Given the description of an element on the screen output the (x, y) to click on. 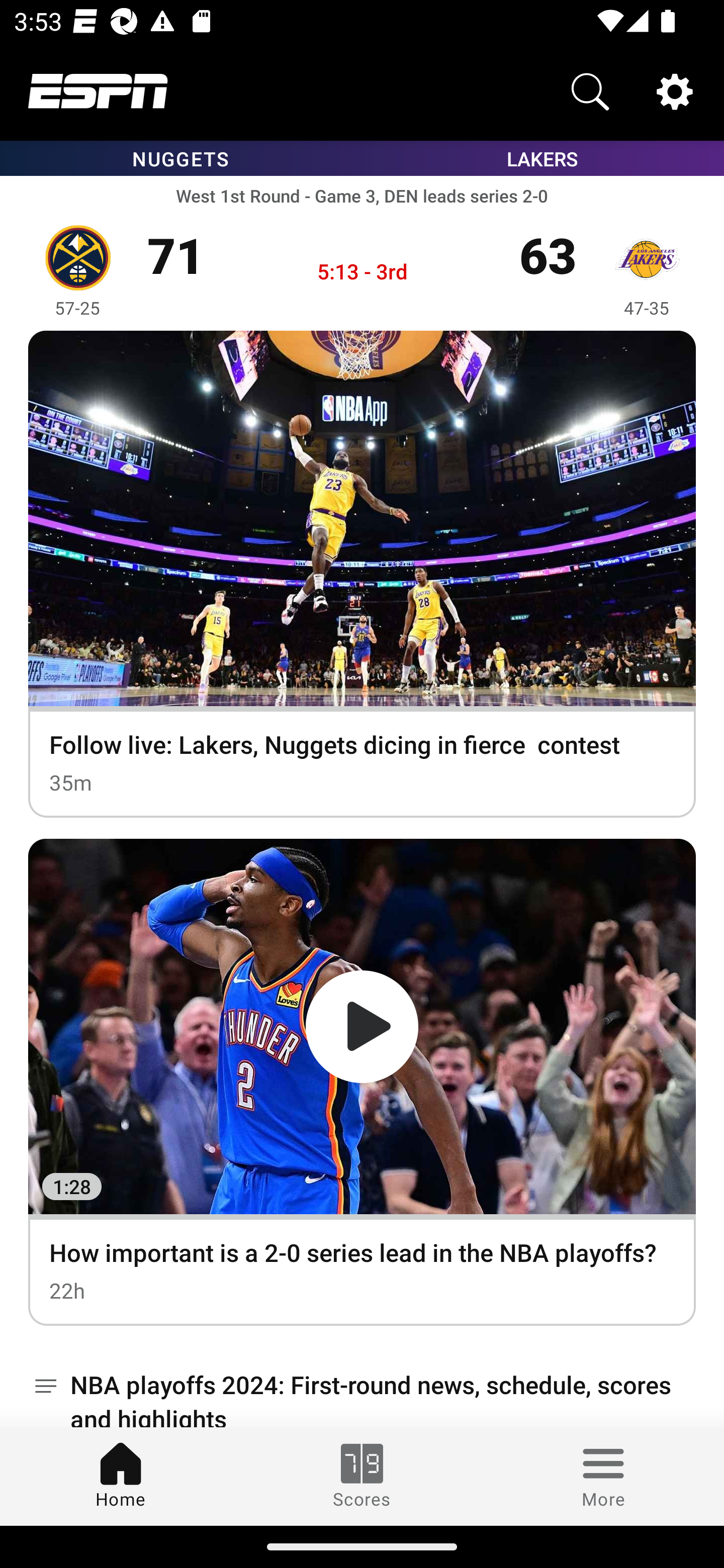
Search (590, 90)
Settings (674, 90)
Scores (361, 1475)
More (603, 1475)
